Given the description of an element on the screen output the (x, y) to click on. 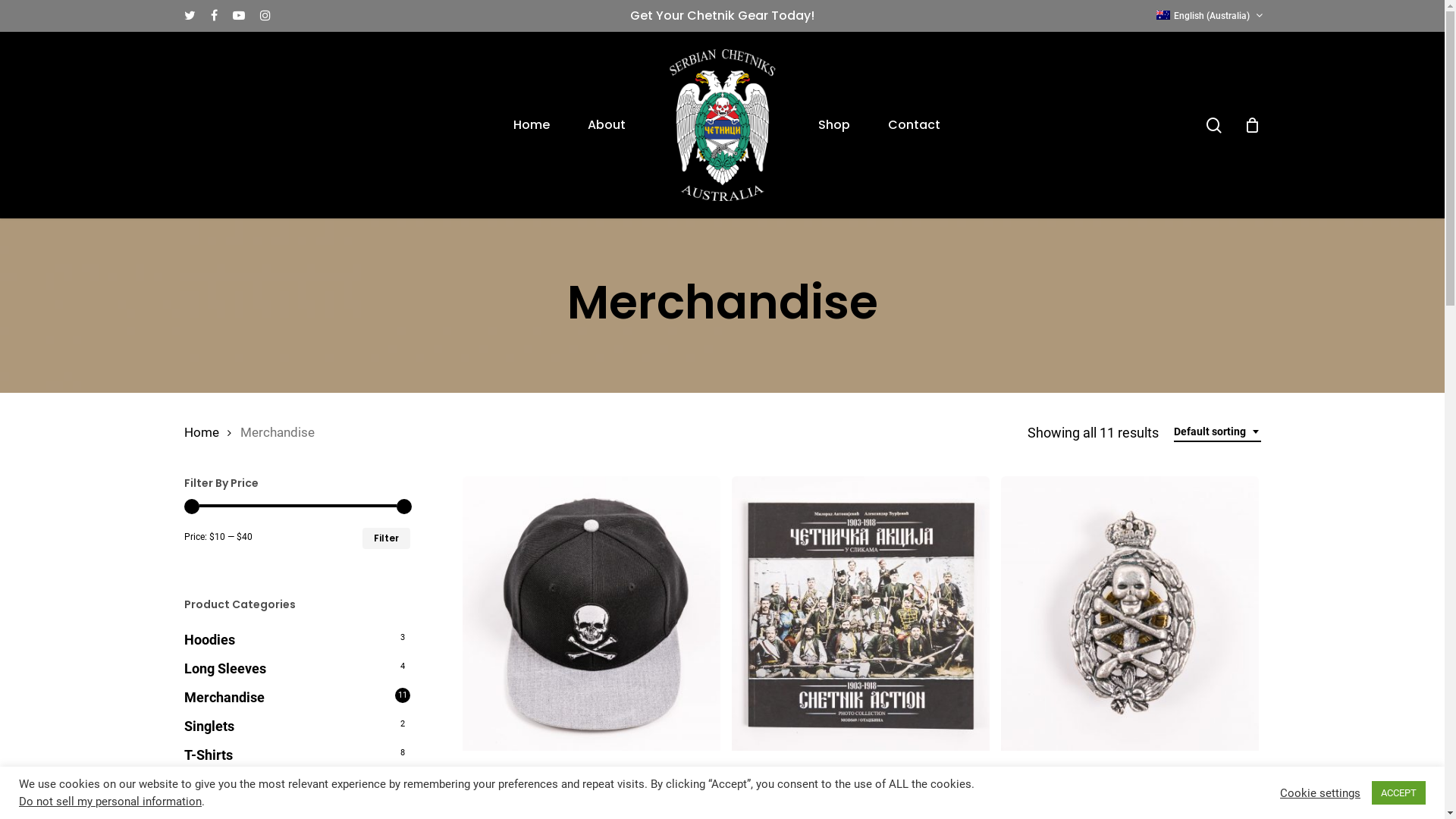
Hoodies Element type: text (296, 639)
Singlets Element type: text (296, 726)
Contact Element type: text (914, 125)
ACCEPT Element type: text (1398, 792)
Chetnik Action Badge Element type: text (1129, 778)
Merchandise Element type: text (296, 697)
English (Australia) Element type: text (1206, 15)
Shop Element type: text (834, 125)
T-Shirts Element type: text (296, 755)
Get Your Chetnik Gear Today! Element type: text (722, 15)
Home Element type: text (531, 125)
Filter Element type: text (386, 538)
Home Element type: text (200, 432)
twitter Element type: text (188, 15)
Chetnik Action Element type: text (860, 778)
facebook Element type: text (213, 15)
Cookie settings Element type: text (1320, 792)
search Element type: text (1213, 124)
youtube Element type: text (238, 15)
Long Sleeves Element type: text (296, 668)
English (Australia) Element type: hover (1162, 14)
instagram Element type: text (264, 15)
About Element type: text (606, 125)
Black Chetnik Cap Element type: text (591, 778)
Do not sell my personal information Element type: text (109, 801)
